Given the description of an element on the screen output the (x, y) to click on. 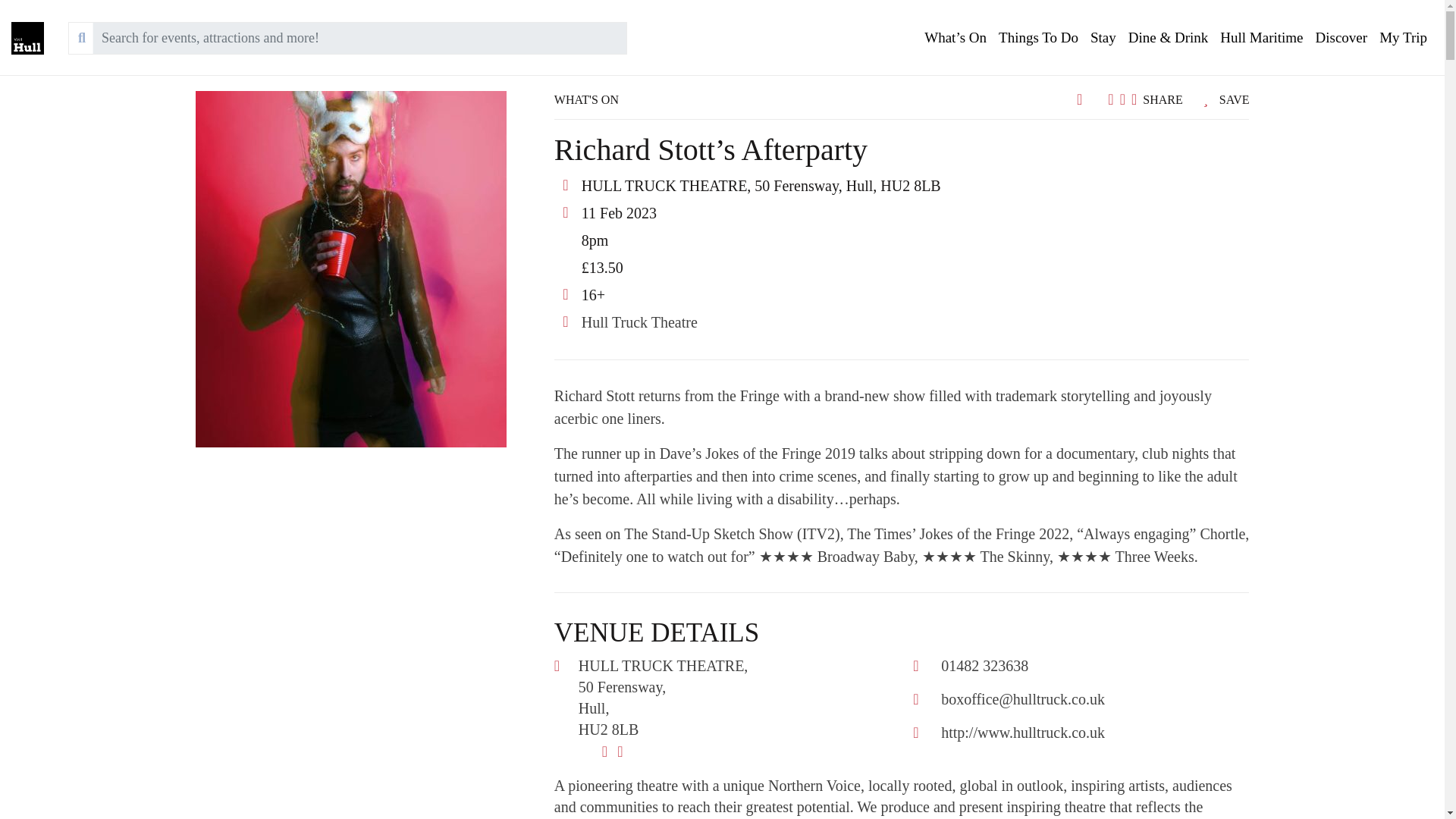
01482 323638 (983, 665)
Things To Do (1038, 38)
Hull Maritime (1261, 38)
Hull Maritime (1261, 38)
What's On (955, 38)
Hull Truck Theatre (638, 321)
Things To Do (1038, 38)
